Given the description of an element on the screen output the (x, y) to click on. 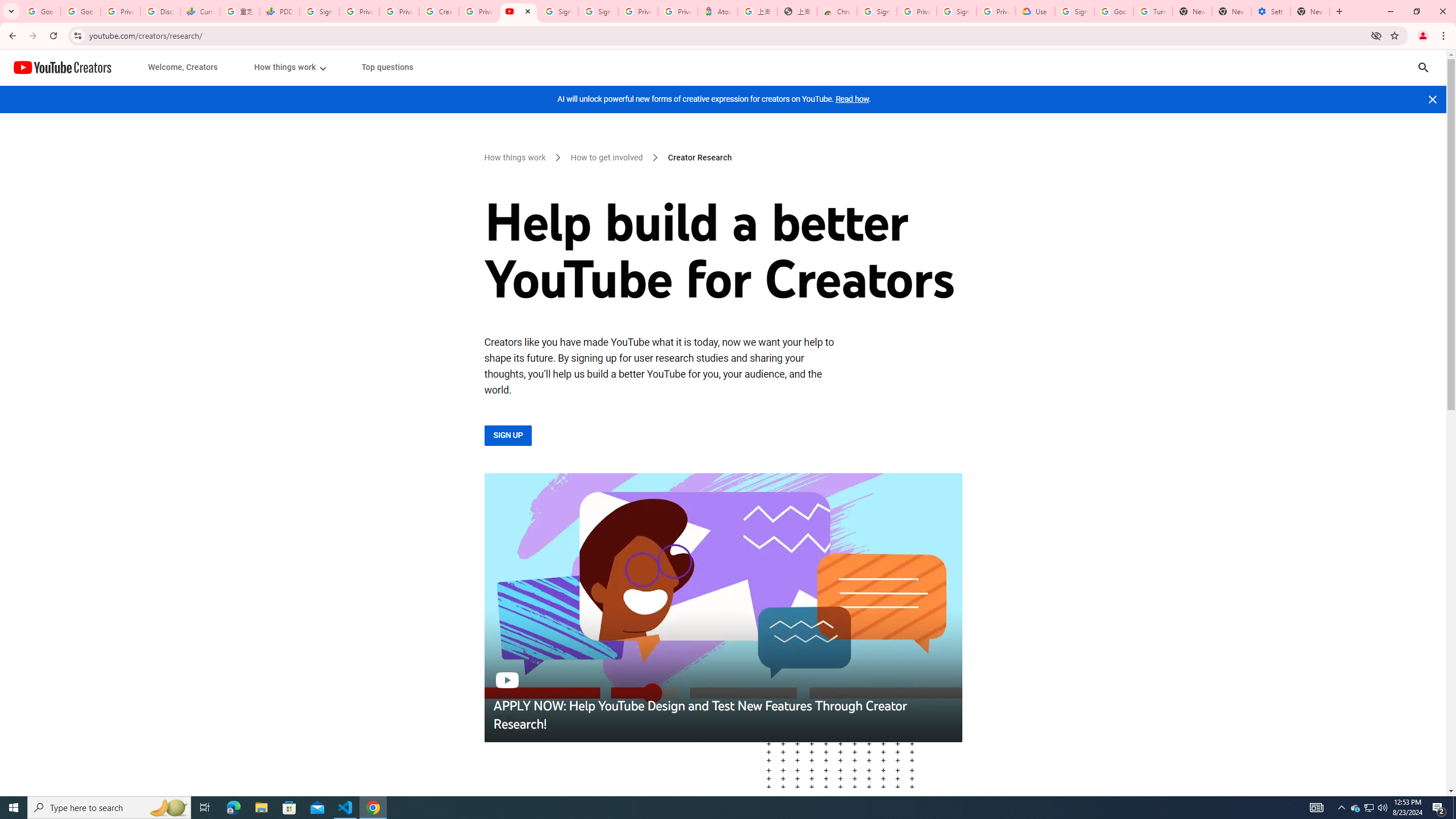
Sign in - Google Accounts (319, 11)
Home page (62, 67)
Sign in - Google Accounts (1074, 11)
How to get involved  (607, 157)
YouTube Creators (62, 67)
Read how (852, 99)
Chrome Web Store - Color themes by Chrome (836, 11)
SIGN UP (507, 435)
Top questions (387, 67)
